Given the description of an element on the screen output the (x, y) to click on. 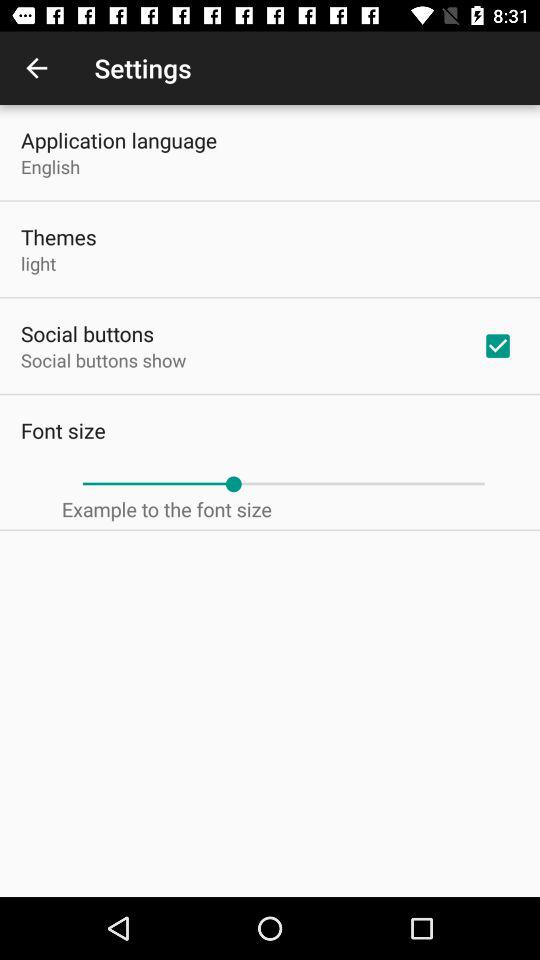
swipe to themes (58, 236)
